Given the description of an element on the screen output the (x, y) to click on. 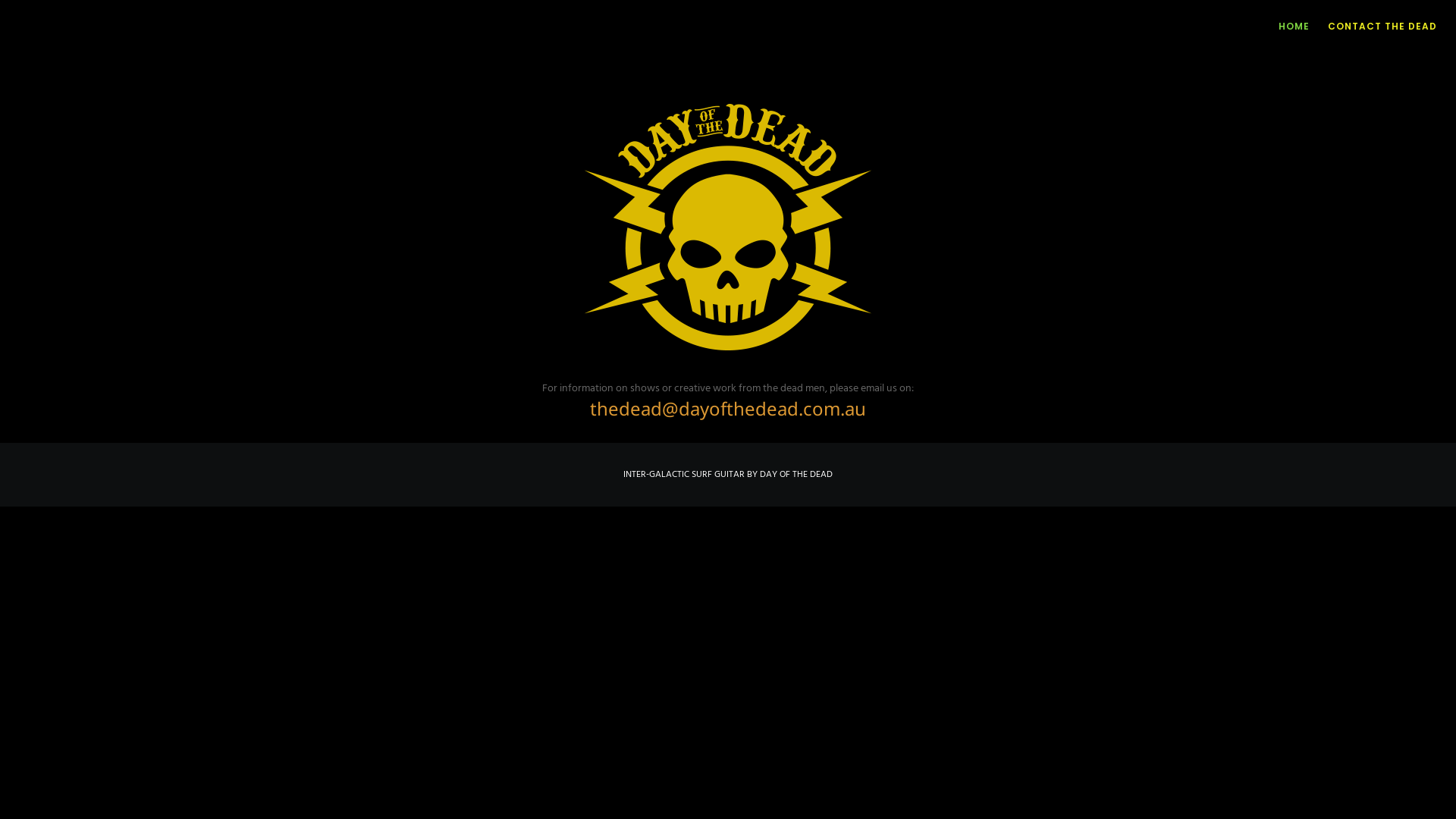
HOME Element type: text (1284, 26)
CONTACT THE DEAD Element type: text (1373, 26)
thedead@dayofthedead.com.au Element type: text (727, 407)
